Given the description of an element on the screen output the (x, y) to click on. 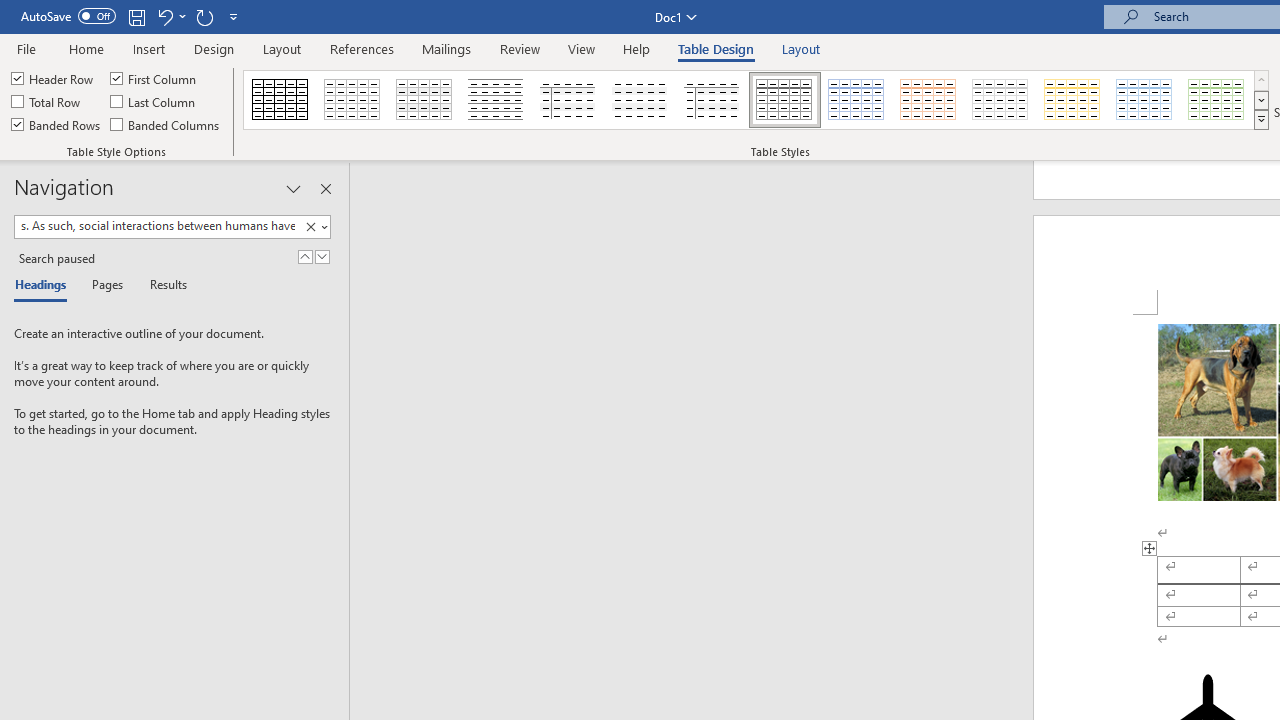
Last Column (154, 101)
Table Styles (1261, 120)
Headings (45, 285)
Plain Table 1 (424, 100)
Banded Columns (166, 124)
AutomationID: TableStylesGalleryWord (756, 99)
Grid Table 1 Light (784, 100)
Clear (310, 227)
Total Row (47, 101)
Repeat Style (204, 15)
Next Result (322, 256)
